Given the description of an element on the screen output the (x, y) to click on. 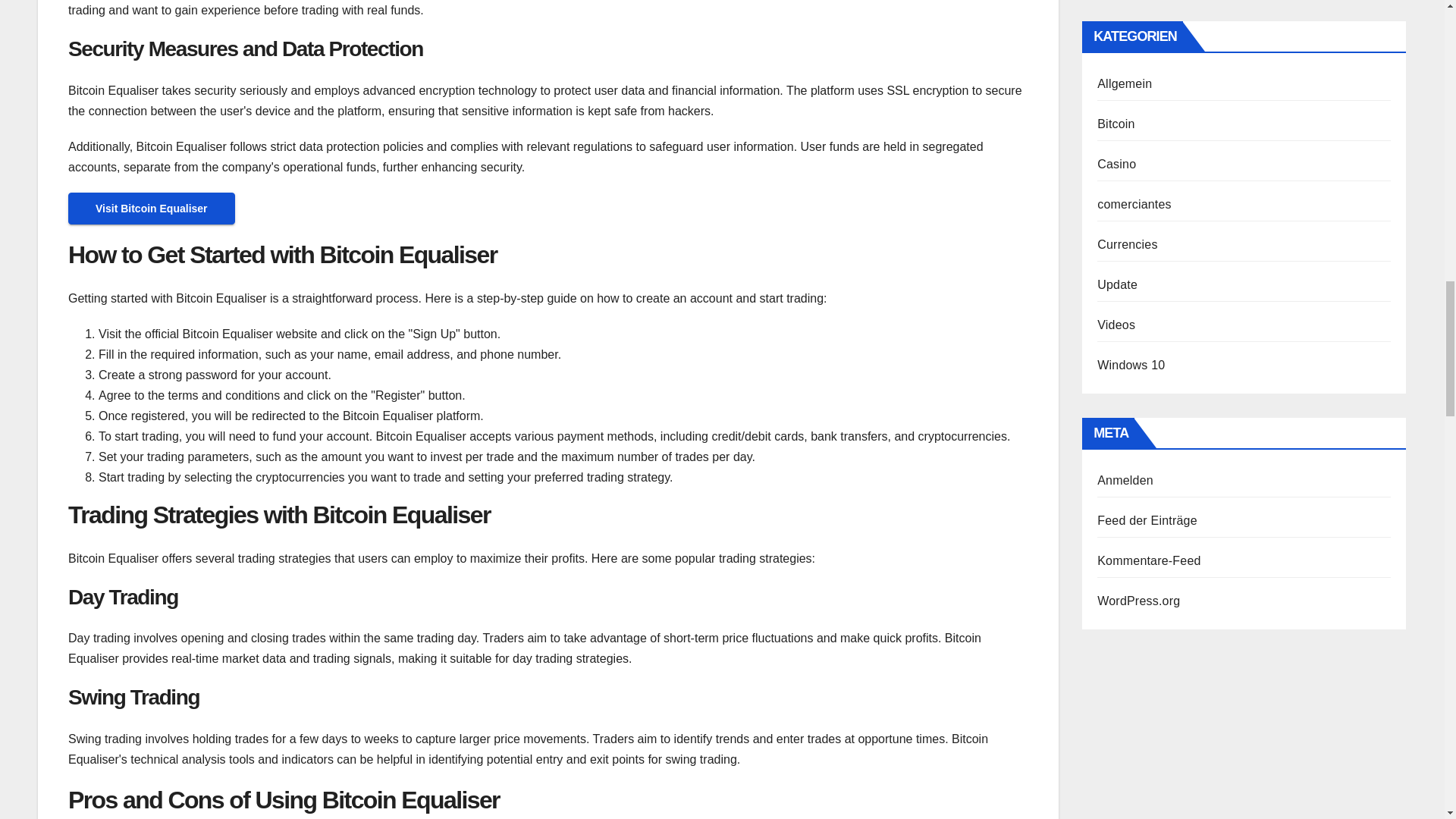
Visit Bitcoin Equaliser (151, 208)
Visit Bitcoin Equaliser (151, 207)
